Given the description of an element on the screen output the (x, y) to click on. 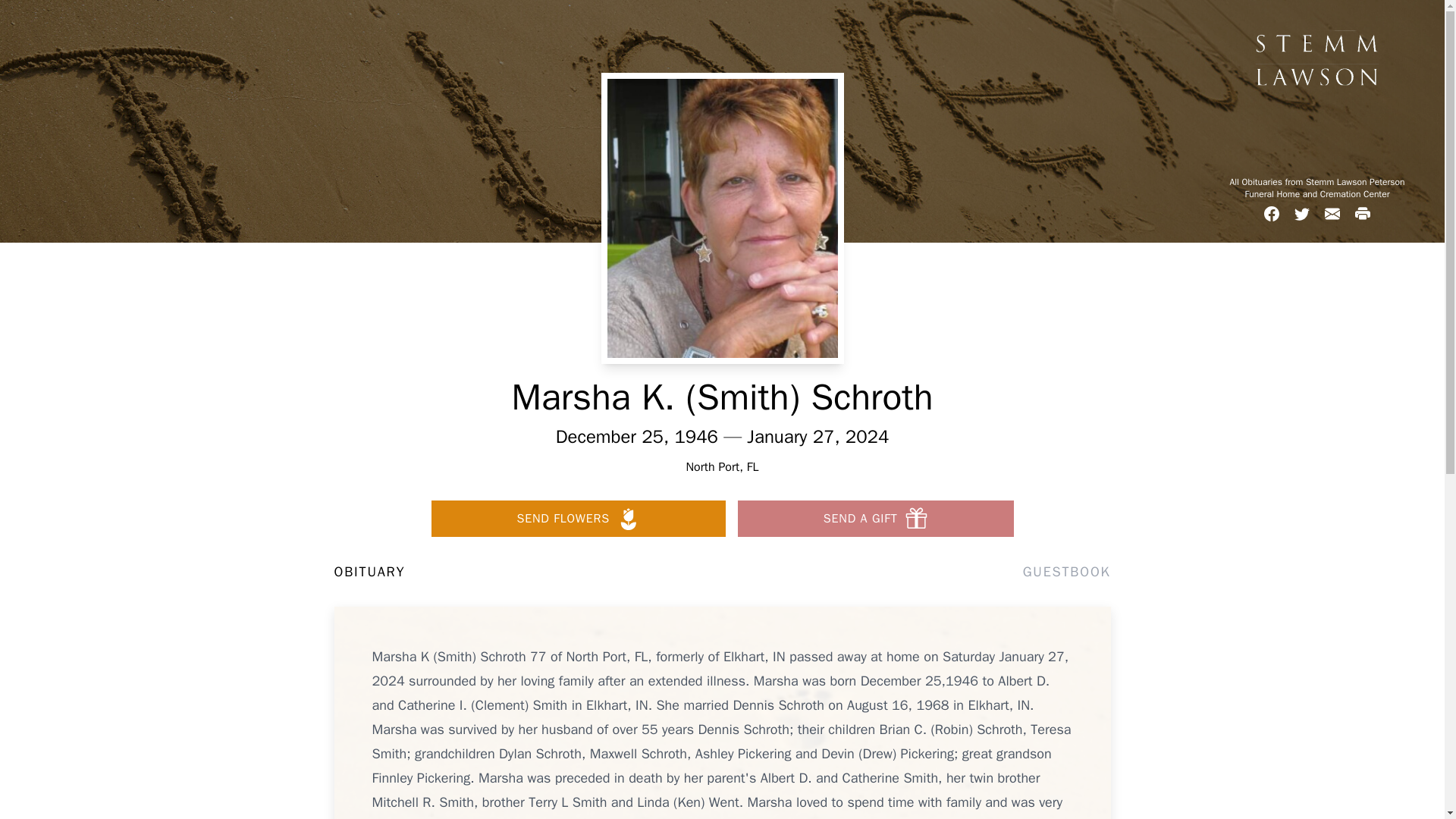
OBITUARY (368, 571)
SEND A GIFT (875, 518)
GUESTBOOK (1066, 571)
SEND FLOWERS (577, 518)
